Given the description of an element on the screen output the (x, y) to click on. 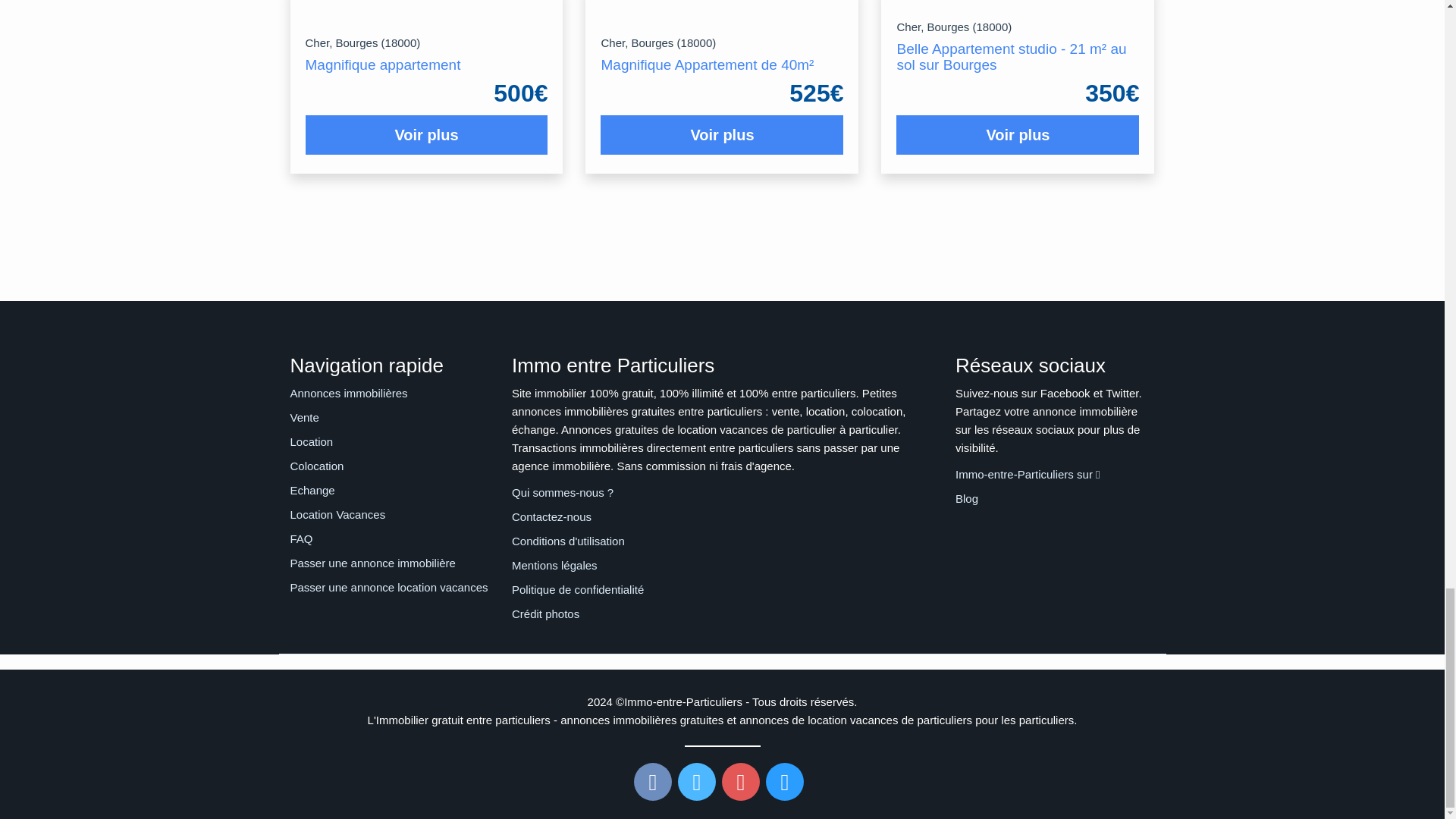
Magnifique appartement (382, 64)
Voir plus (426, 134)
